Given the description of an element on the screen output the (x, y) to click on. 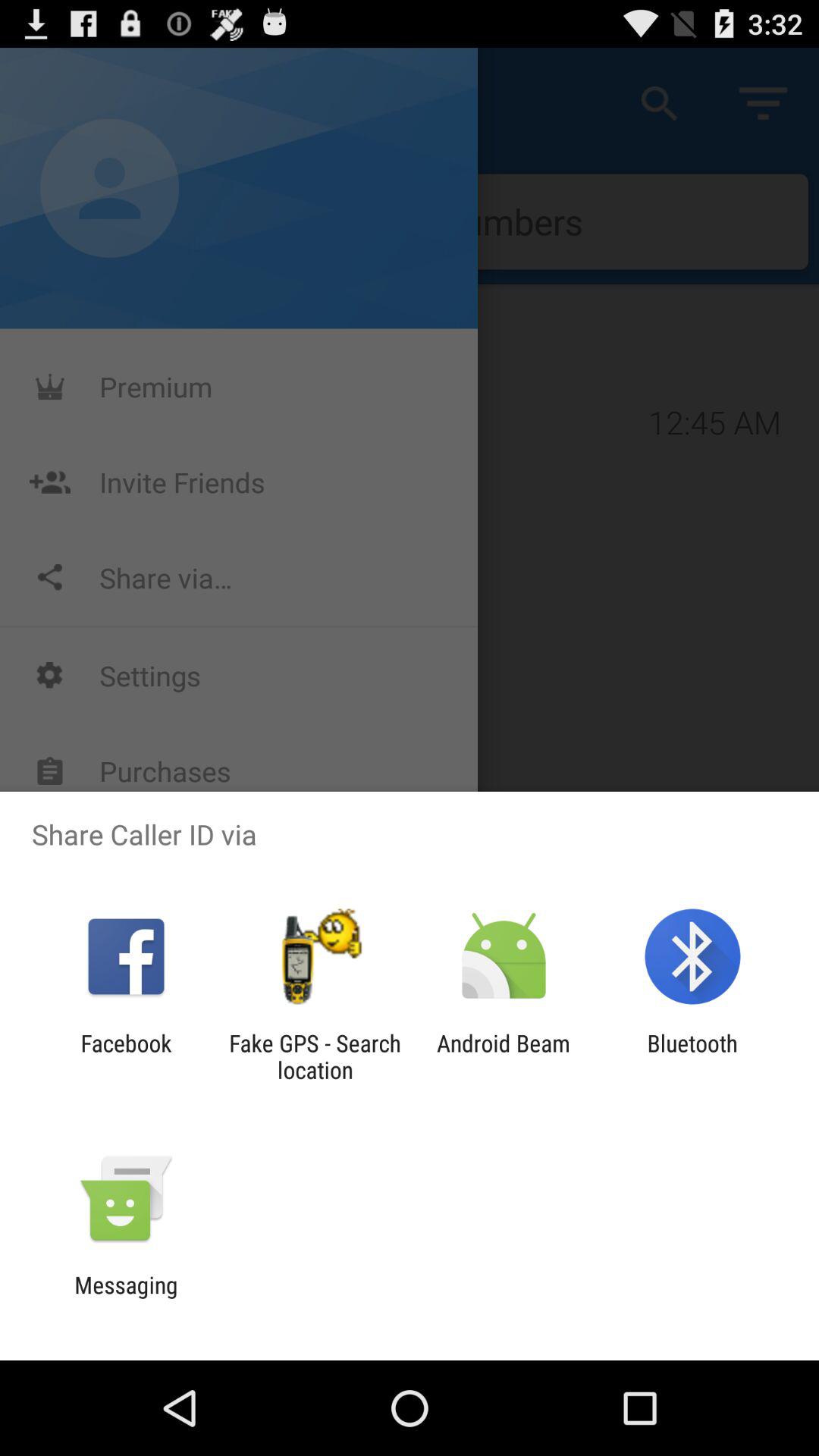
select the item next to android beam icon (314, 1056)
